Given the description of an element on the screen output the (x, y) to click on. 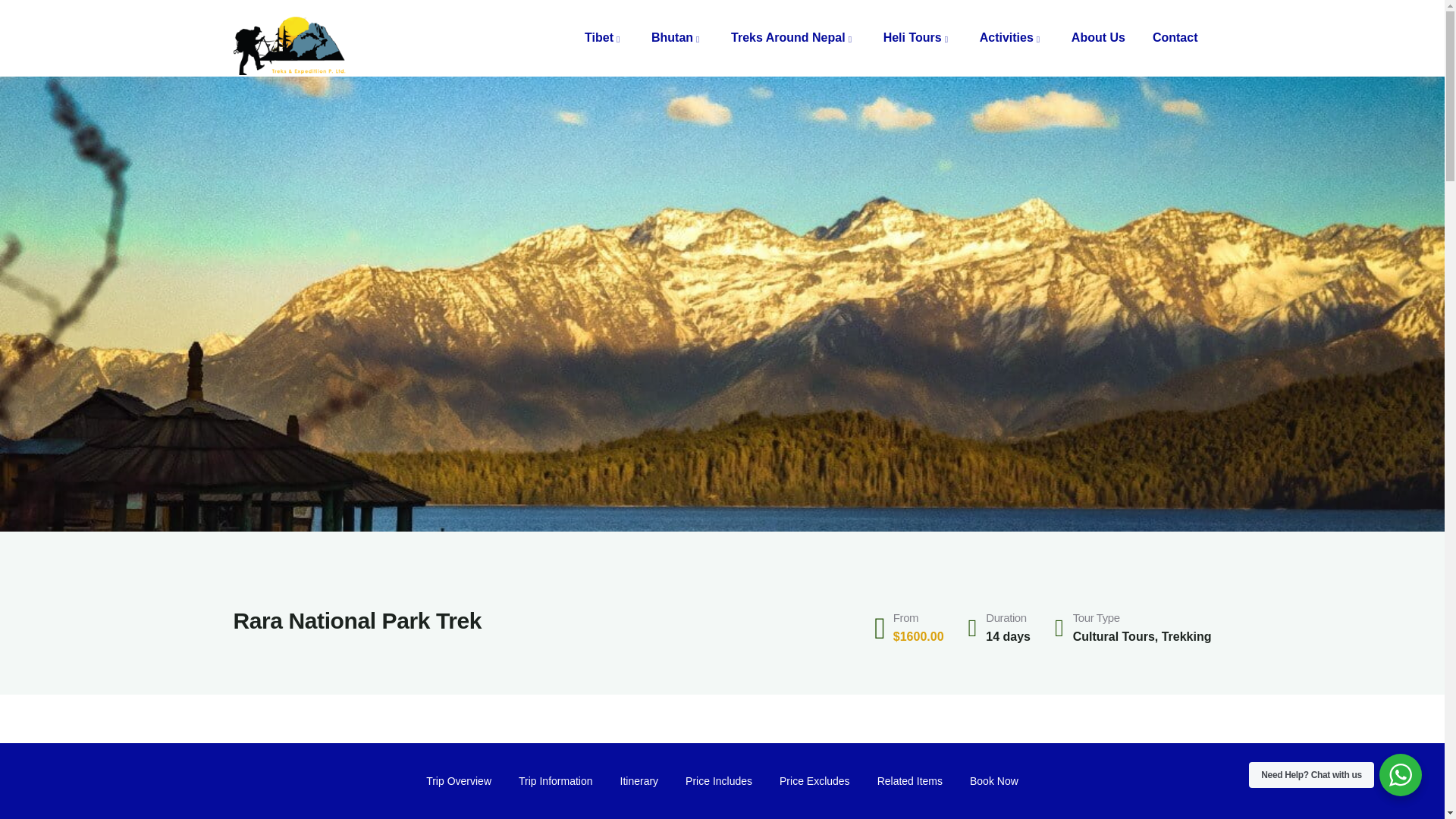
Home (291, 38)
Treks Around Nepal (793, 38)
Bhutan (677, 38)
